Given the description of an element on the screen output the (x, y) to click on. 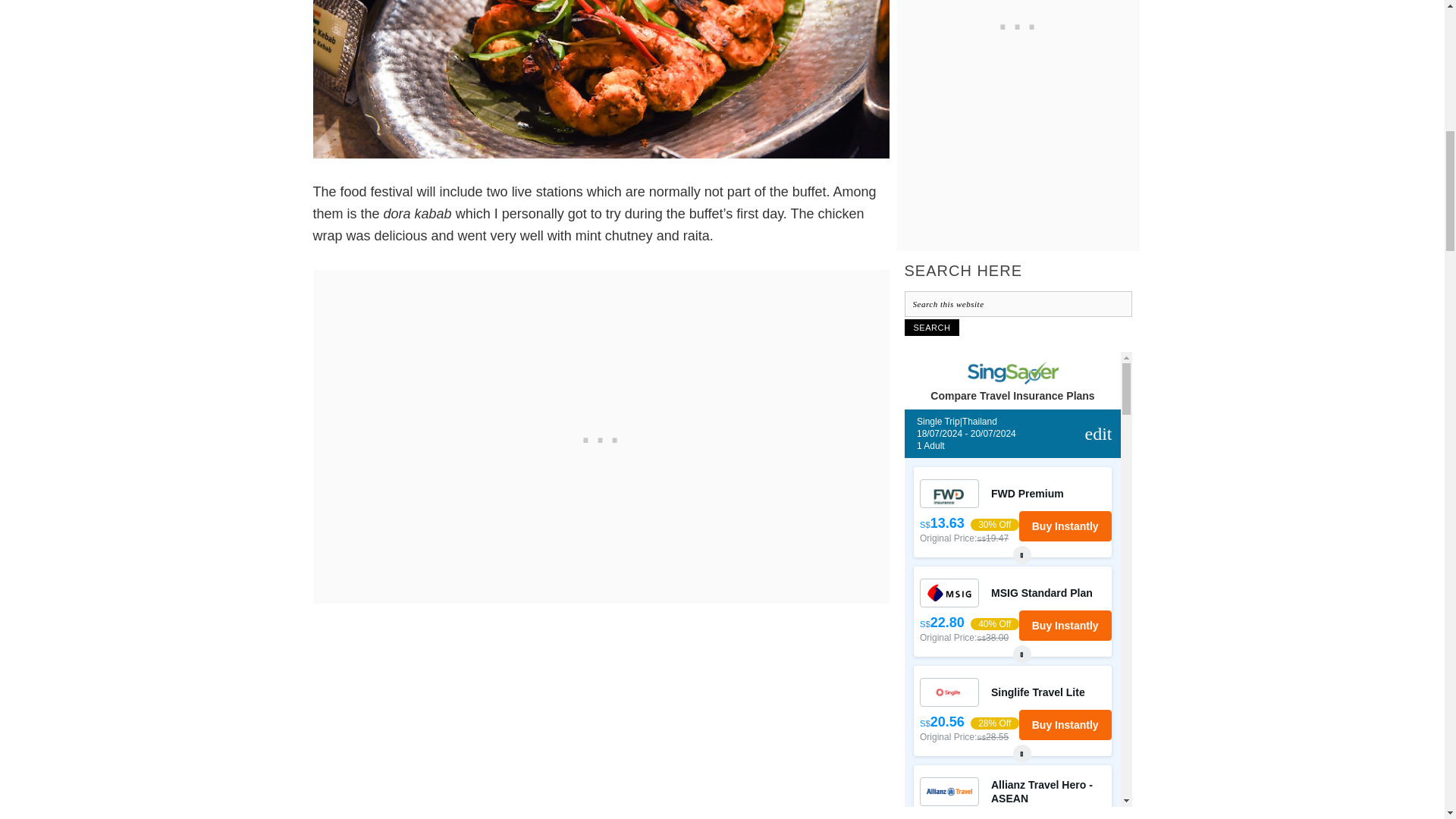
Search (931, 327)
Search (931, 327)
